Given the description of an element on the screen output the (x, y) to click on. 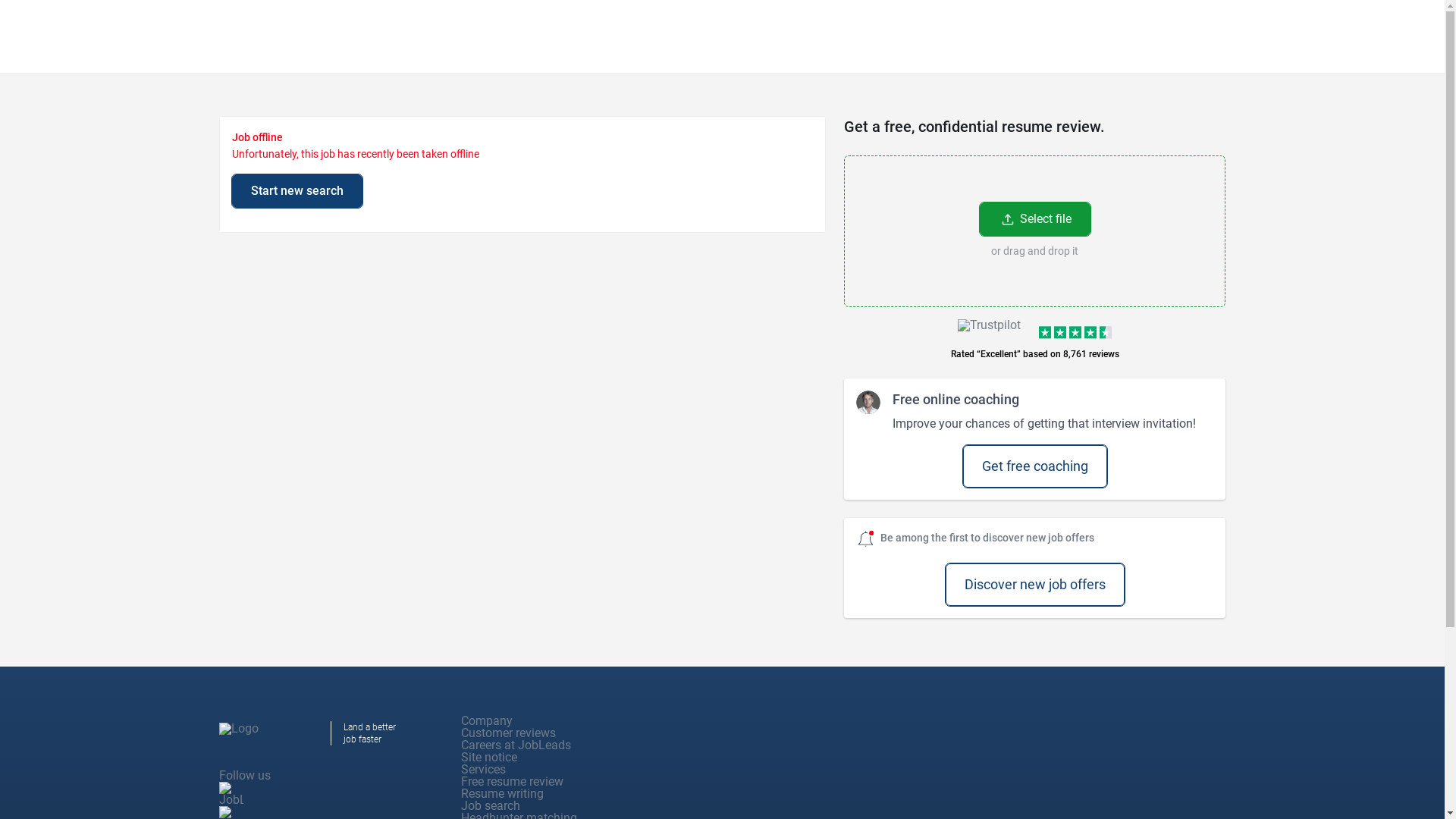
Start new search (296, 191)
Headhunter matching (518, 814)
Select file (1034, 218)
Free resume review (512, 780)
Site notice (488, 757)
Customer reviews (508, 732)
Get free coaching (1034, 466)
Resume writing (502, 793)
Discover new job offers (1034, 584)
Job search (490, 805)
Careers at JobLeads (515, 744)
